Given the description of an element on the screen output the (x, y) to click on. 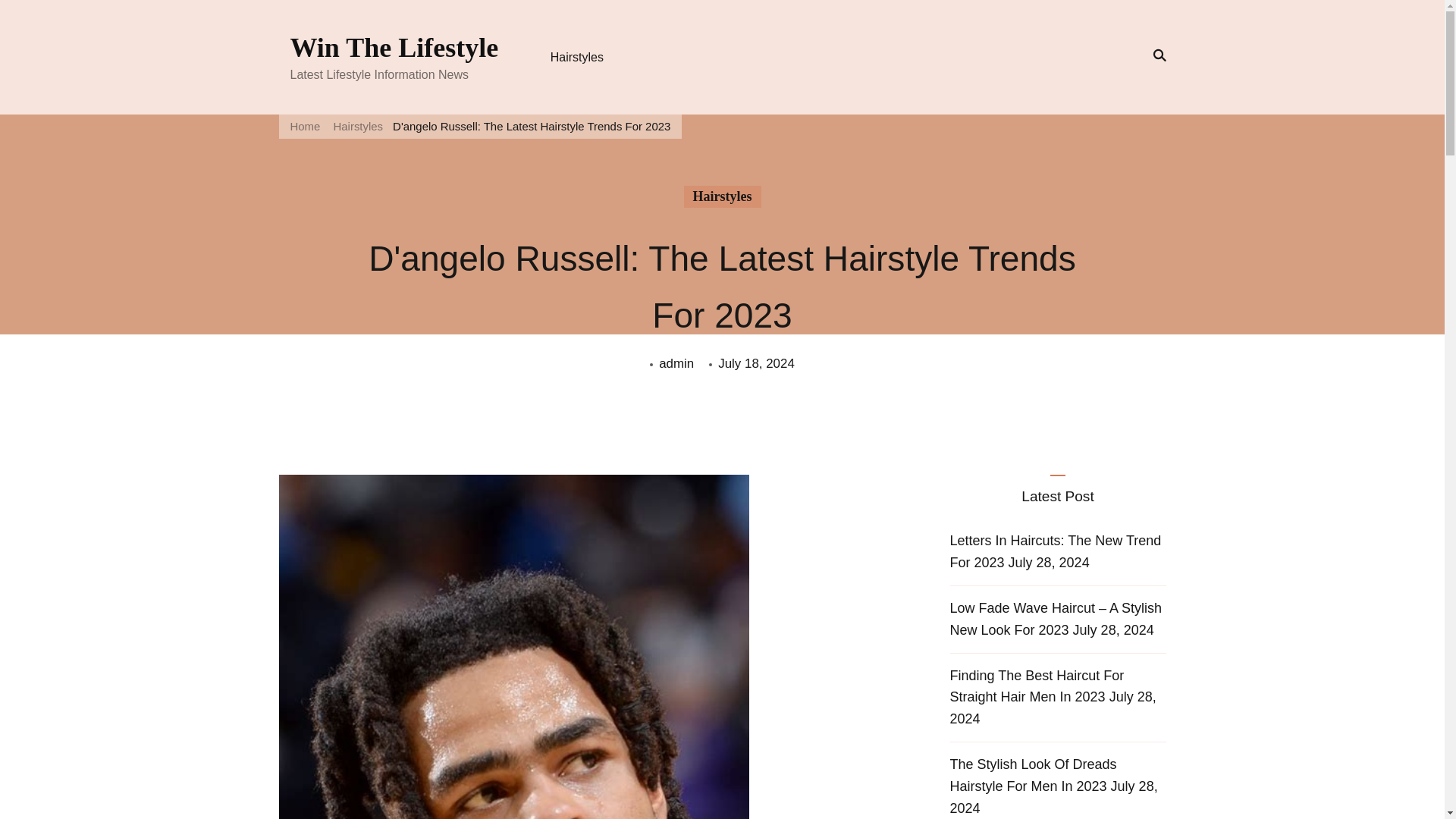
July 18, 2024 (755, 363)
Letters In Haircuts: The New Trend For 2023 (1054, 551)
Finding The Best Haircut For Straight Hair Men In 2023 (1036, 686)
Hairstyles (358, 126)
Hairstyles (722, 196)
Win The Lifestyle (393, 48)
D'angelo Russell: The Latest Hairstyle Trends For 2023 (531, 126)
The Stylish Look Of Dreads Hairstyle For Men In 2023 (1032, 774)
Home (304, 126)
Hairstyles (577, 56)
admin (676, 363)
